Given the description of an element on the screen output the (x, y) to click on. 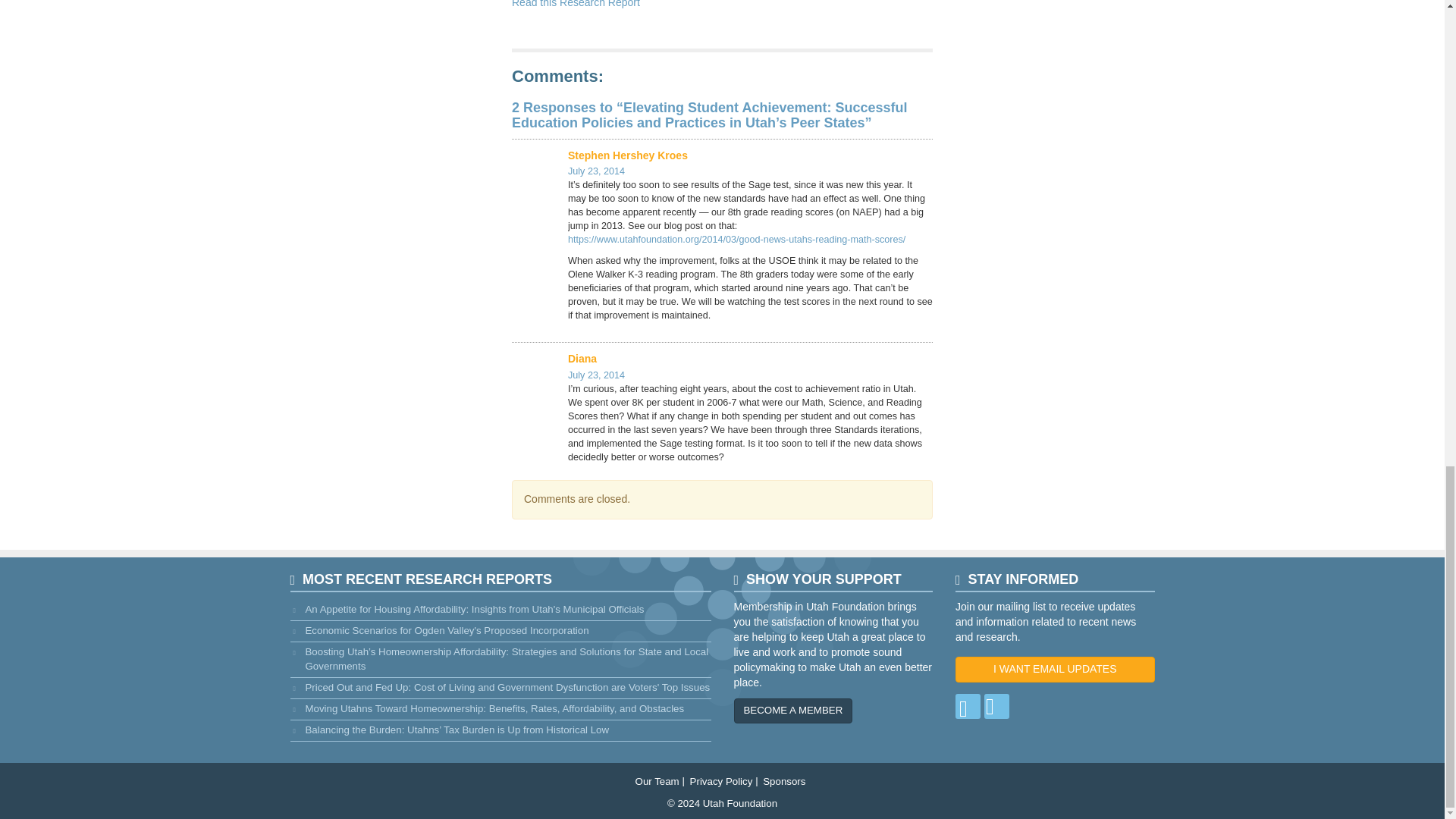
July 23, 2014 (595, 171)
Economic Scenarios for Ogden Valley's Proposed Incorporation (499, 631)
July 23, 2014 (595, 375)
Read this Research Report (576, 4)
